Given the description of an element on the screen output the (x, y) to click on. 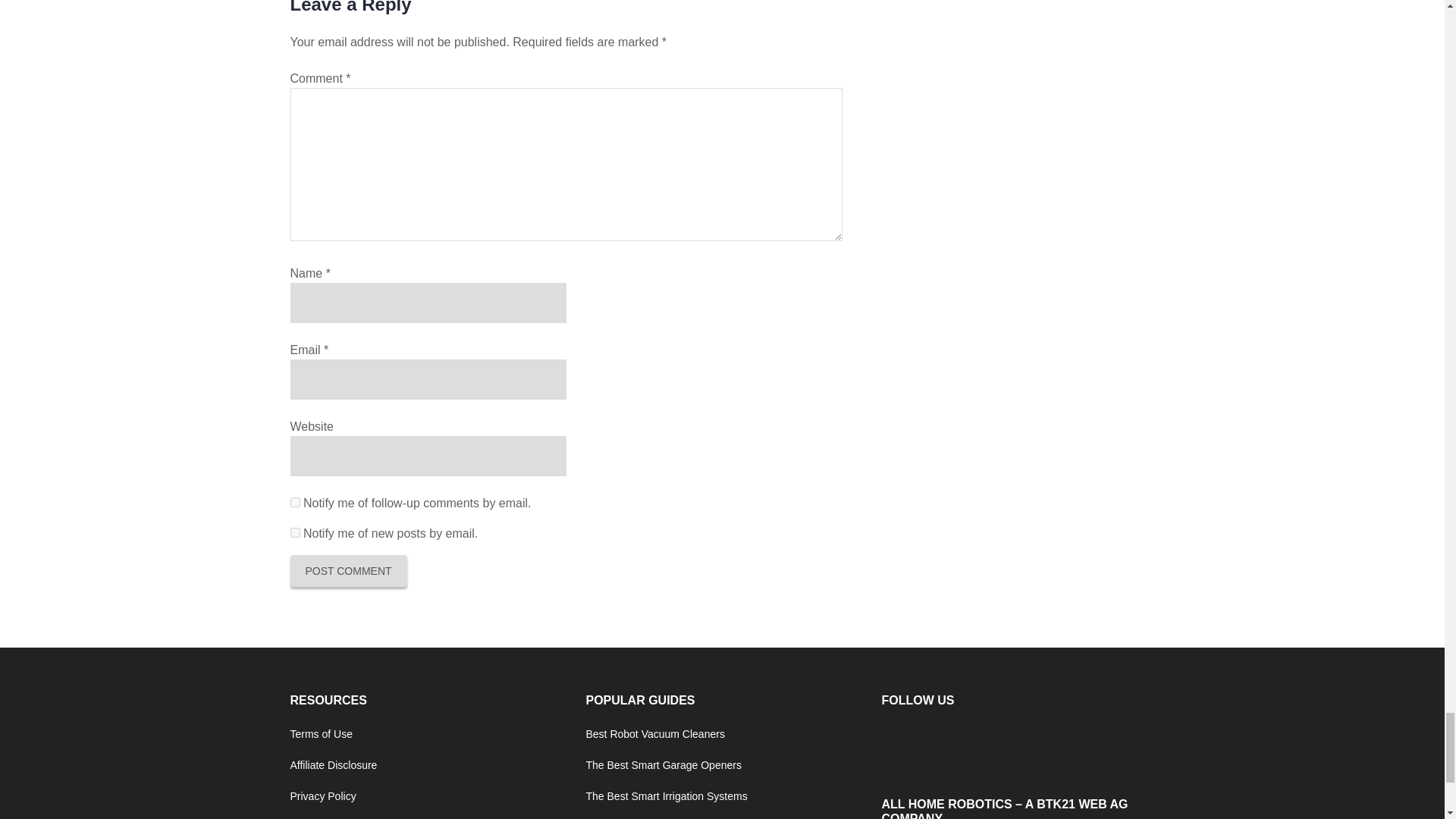
subscribe (294, 501)
Post Comment (347, 571)
subscribe (294, 532)
